Given the description of an element on the screen output the (x, y) to click on. 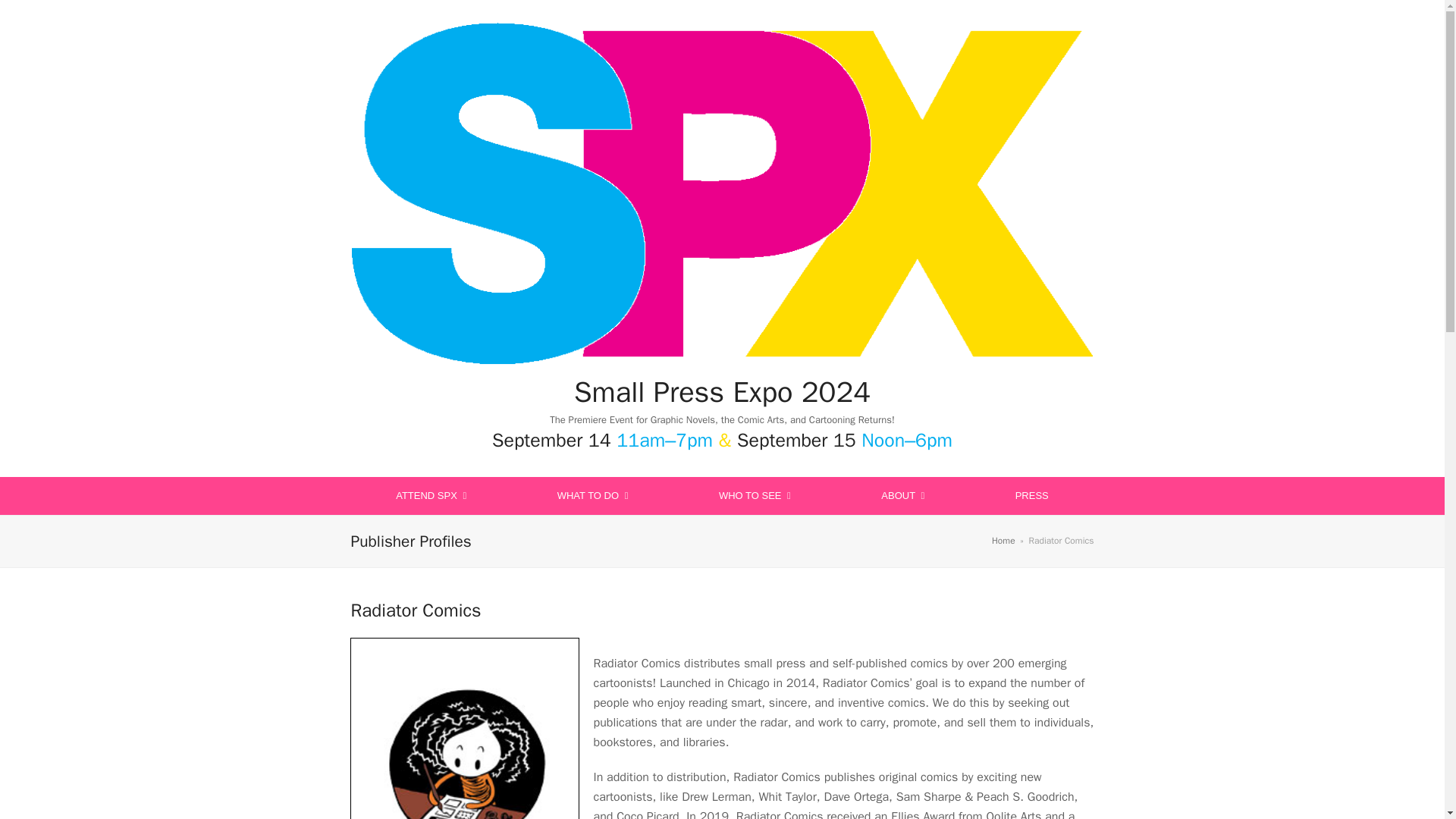
WHO TO SEE (753, 495)
WHAT TO DO (592, 495)
ATTEND SPX (430, 495)
Home (1002, 540)
PRESS (1031, 495)
Press (1031, 495)
ABOUT (902, 495)
